Given the description of an element on the screen output the (x, y) to click on. 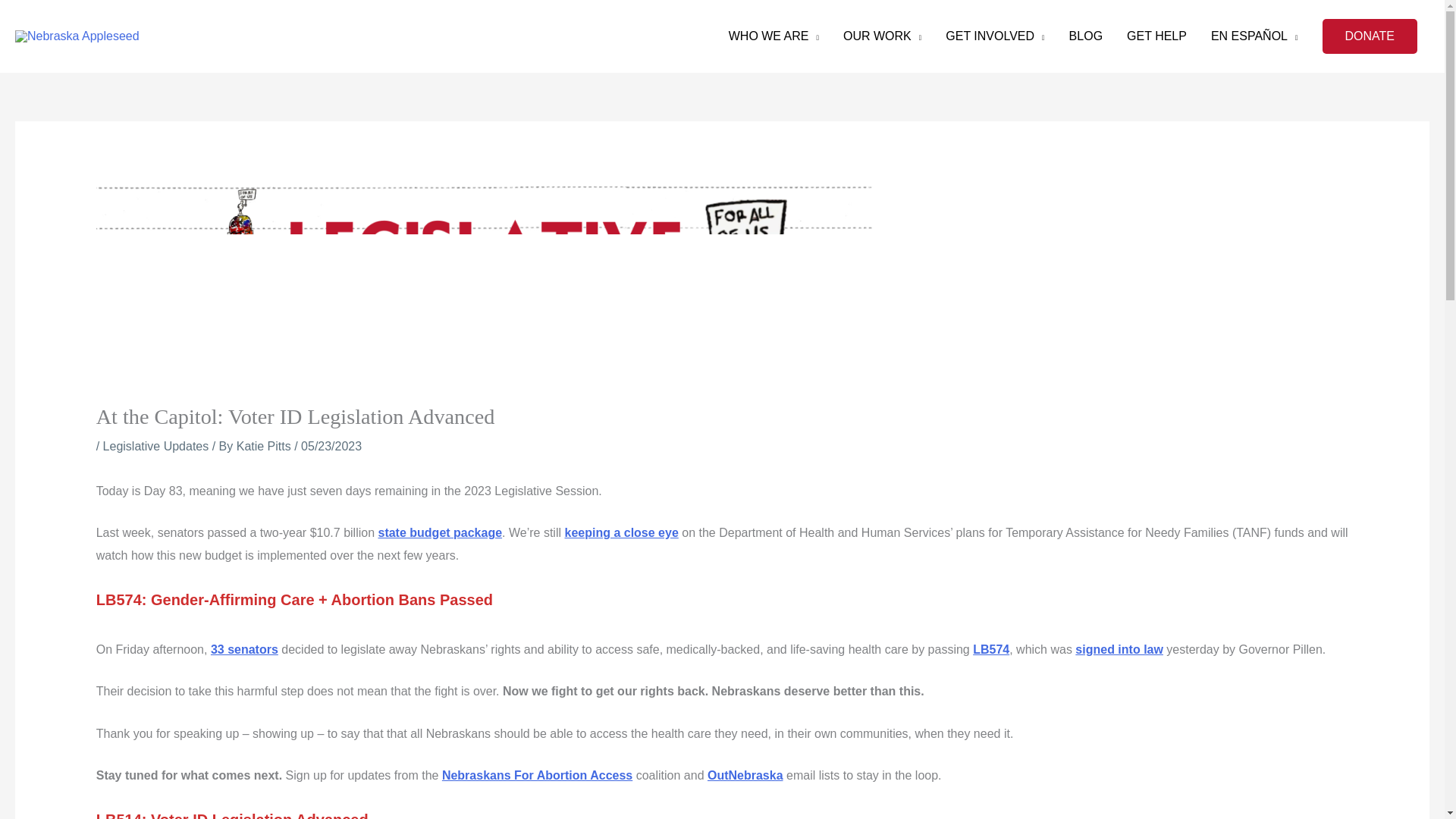
WHO WE ARE (773, 36)
GET INVOLVED (995, 36)
BLOG (1086, 36)
OUR WORK (882, 36)
GET HELP (1156, 36)
DONATE (1369, 36)
View all posts by Katie Pitts (264, 445)
